Given the description of an element on the screen output the (x, y) to click on. 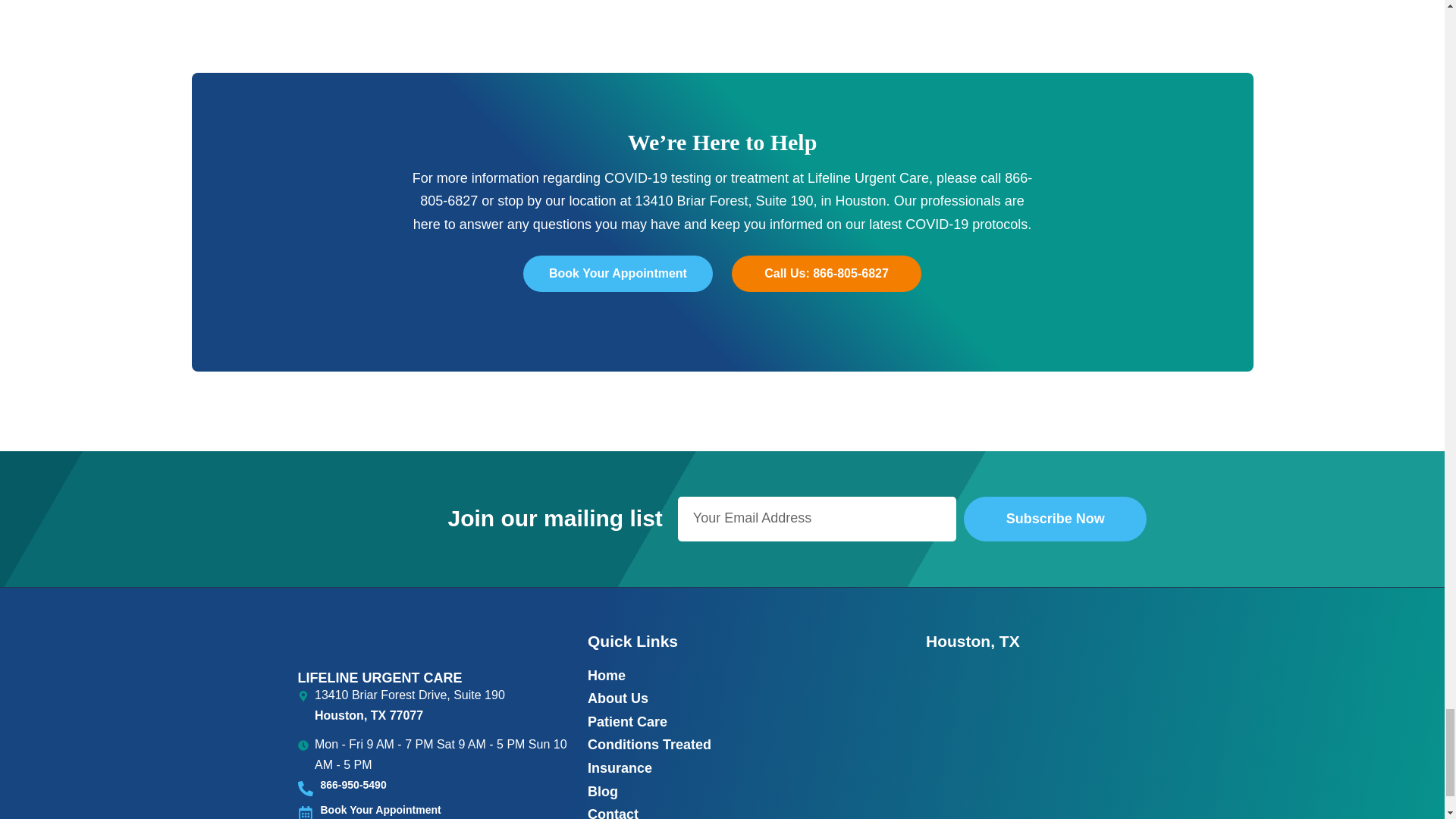
13410 Briar Forest Ste. 190 Houston, TX 77077 (1036, 741)
